Given the description of an element on the screen output the (x, y) to click on. 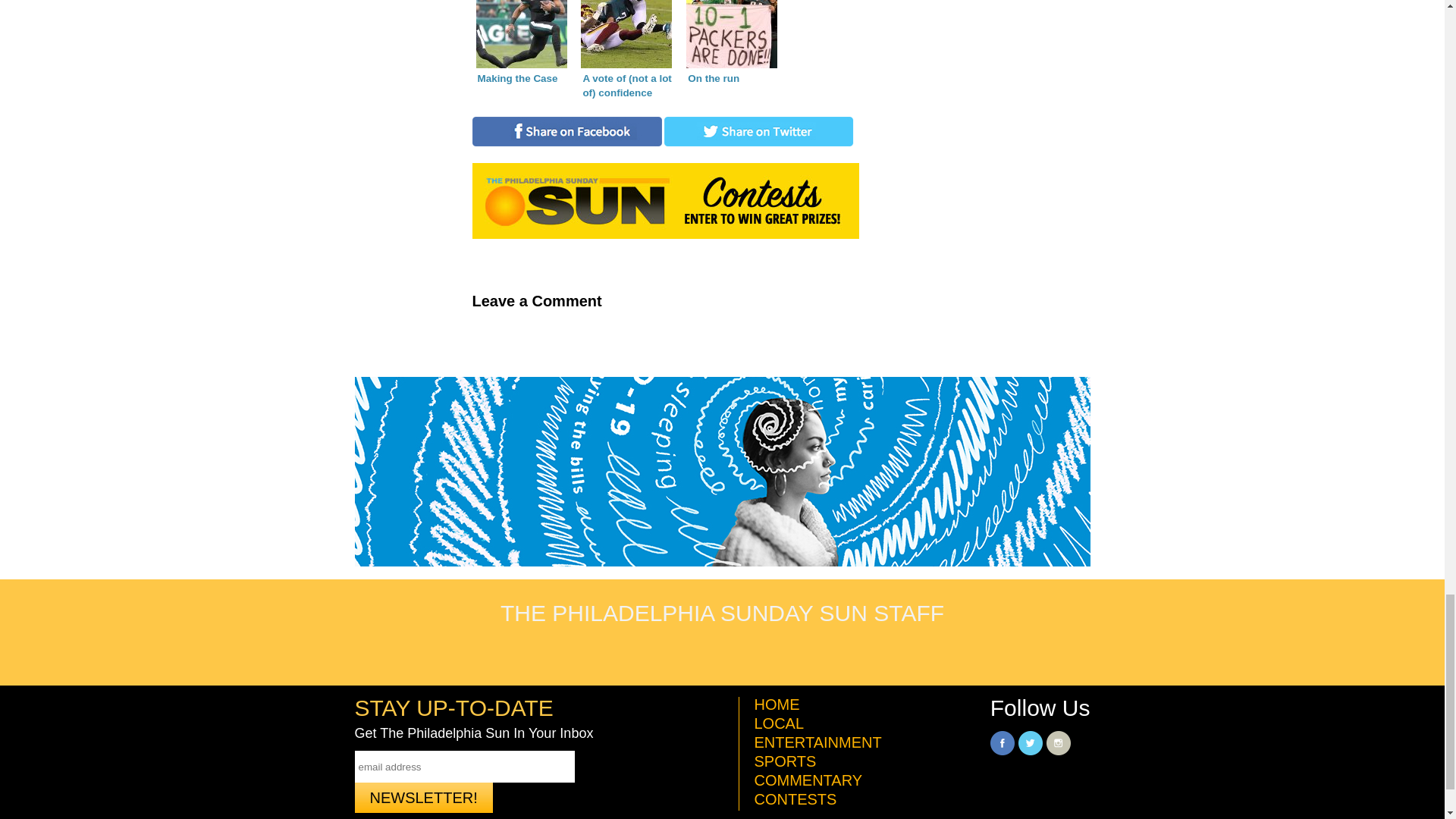
Making the Case (520, 51)
Newsletter! (424, 797)
On the run (731, 51)
